Given the description of an element on the screen output the (x, y) to click on. 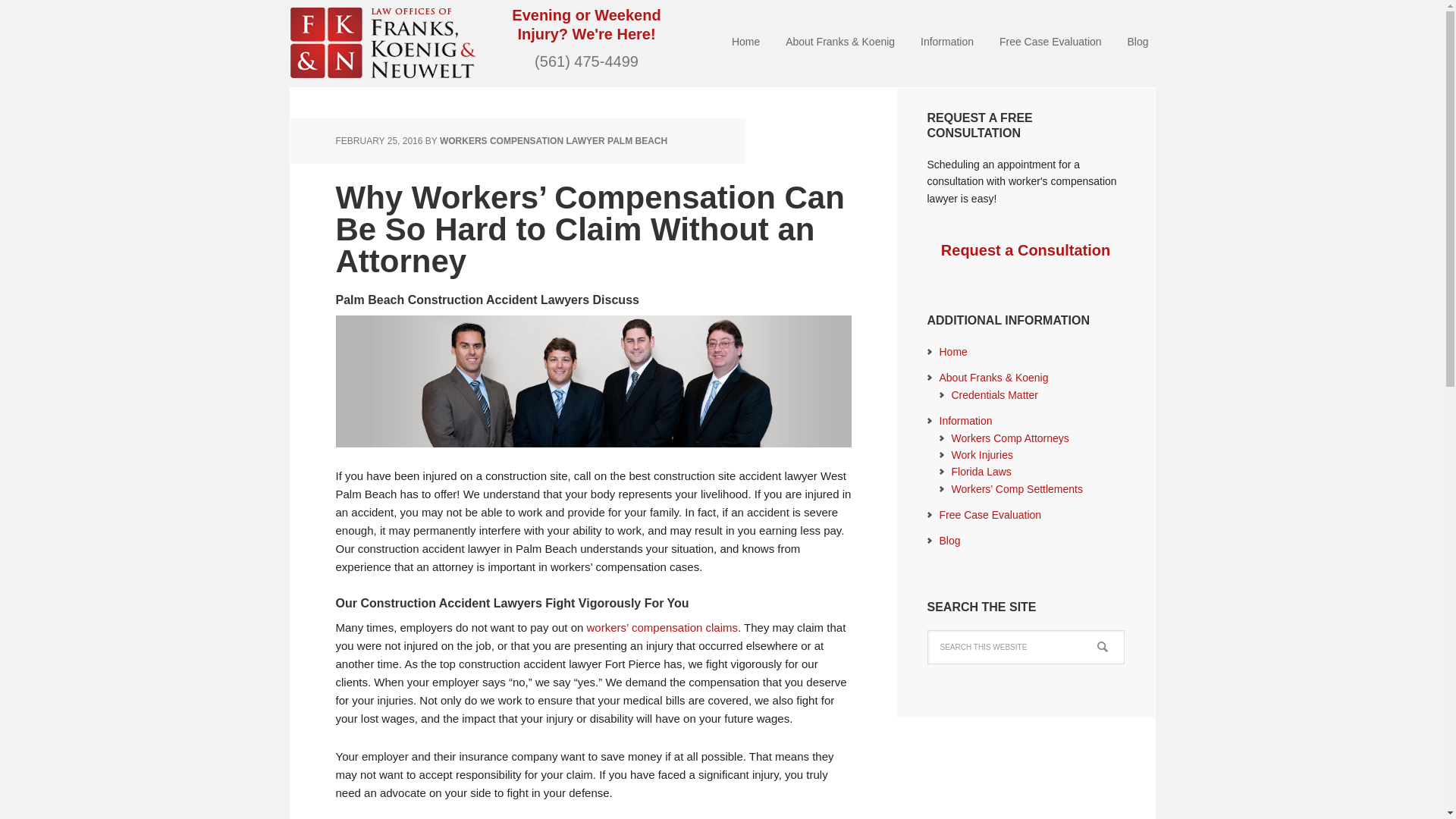
Florida Laws (980, 471)
Workers Comp Attorneys (1009, 438)
Credentials Matter (993, 395)
Free Case Evaluation (1050, 42)
Home (952, 351)
Information (965, 420)
Work Injuries (980, 454)
Request a Consultation (1024, 249)
WORKERS COMPENSATION LAWYER PALM BEACH (552, 140)
Blog (949, 540)
Free Case Evaluation (990, 514)
workerscompensationlawyer-palmbeach.com (382, 38)
